Given the description of an element on the screen output the (x, y) to click on. 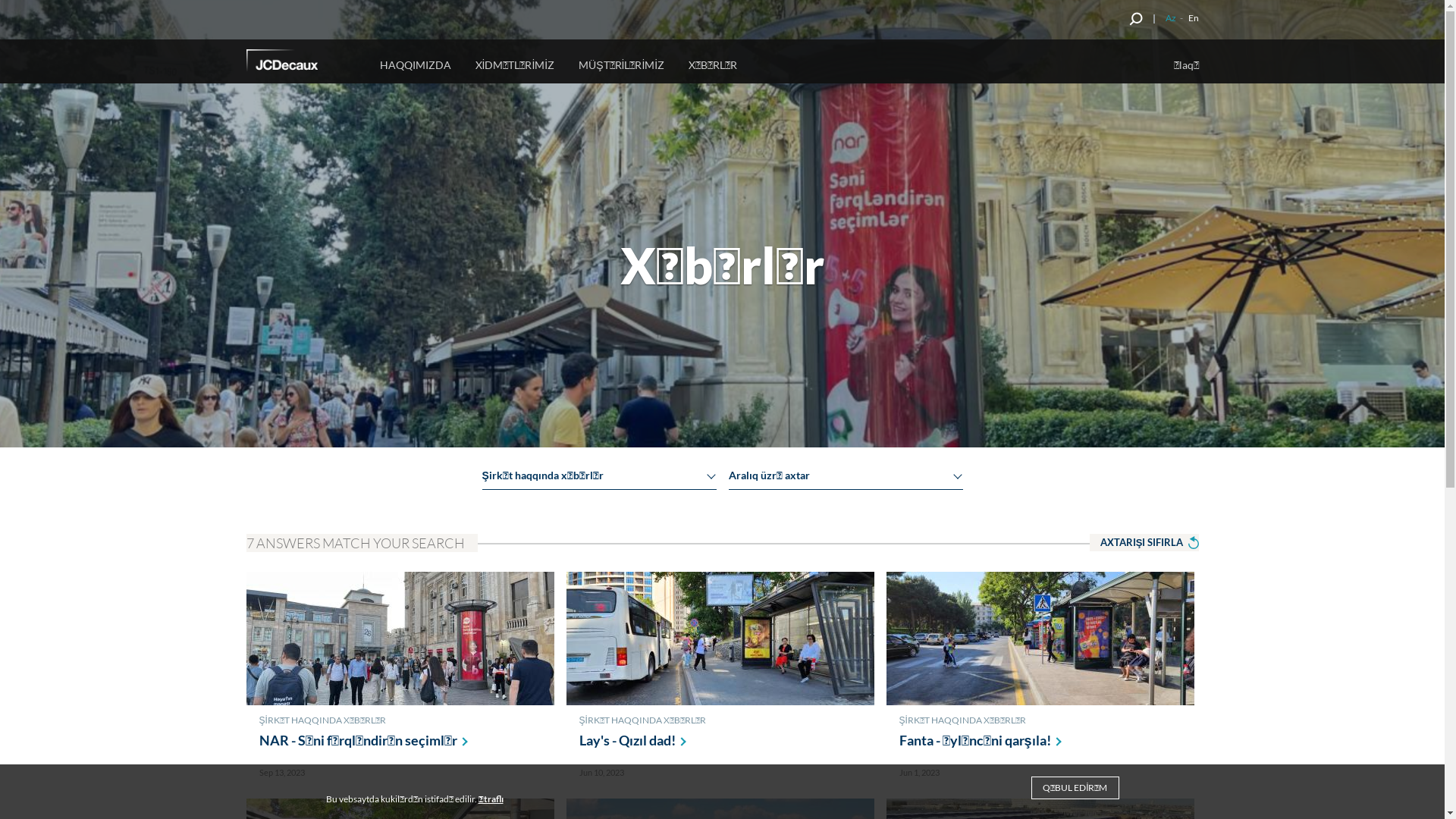
En Element type: text (1192, 18)
HAQQIMIZDA Element type: text (414, 60)
Az Element type: text (1169, 18)
Home Element type: hover (302, 62)
